Given the description of an element on the screen output the (x, y) to click on. 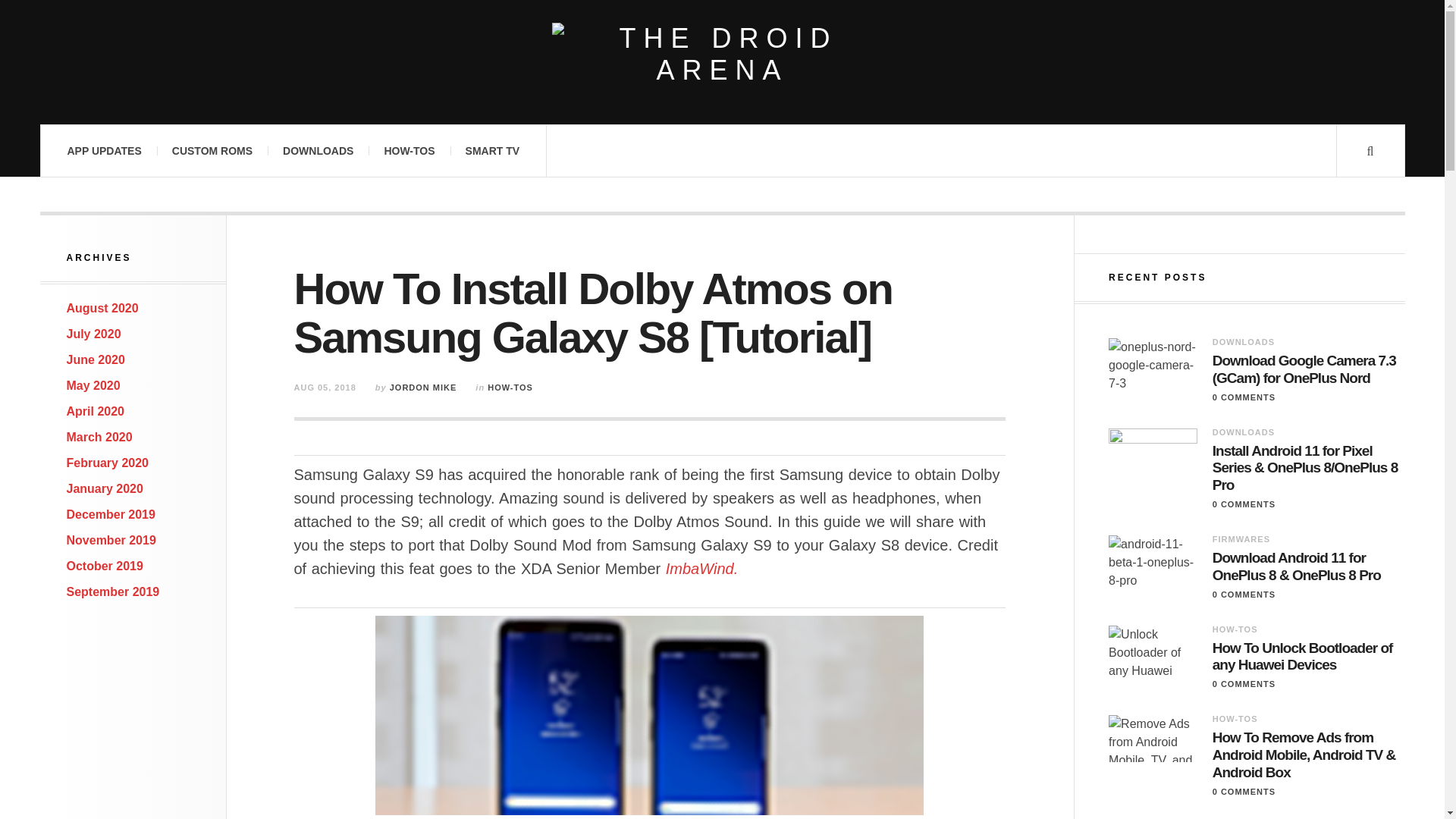
ImbaWind. (701, 568)
SMART TV (492, 150)
View all posts in Downloads (1243, 341)
View all posts in Firmwares (1240, 538)
November 2019 (110, 540)
DOWNLOADS (317, 150)
August 2020 (102, 308)
CUSTOM ROMS (212, 150)
December 2019 (110, 513)
HOW-TOS (408, 150)
View all posts in How-Tos (509, 387)
February 2020 (107, 462)
JORDON MIKE (423, 387)
May 2020 (93, 385)
October 2019 (104, 565)
